Given the description of an element on the screen output the (x, y) to click on. 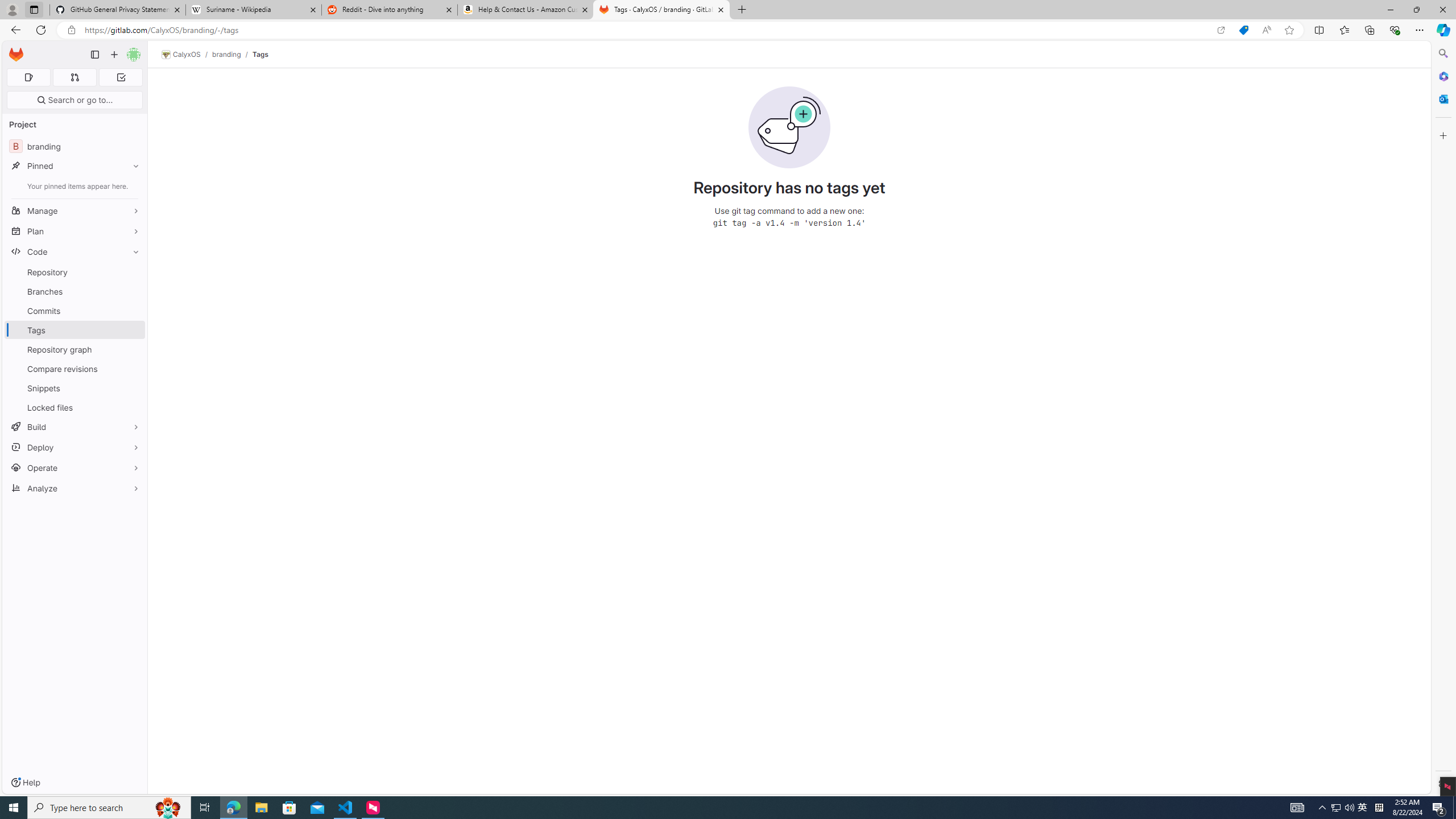
Merge requests 0 (74, 76)
Commits (74, 310)
Branches (74, 290)
Build (74, 426)
Analyze (74, 488)
CalyxOS/ (186, 54)
Tags (259, 53)
Deploy (74, 447)
Operate (74, 467)
Pin Snippets (132, 387)
Pin Repository graph (132, 349)
Compare revisions (74, 368)
